Given the description of an element on the screen output the (x, y) to click on. 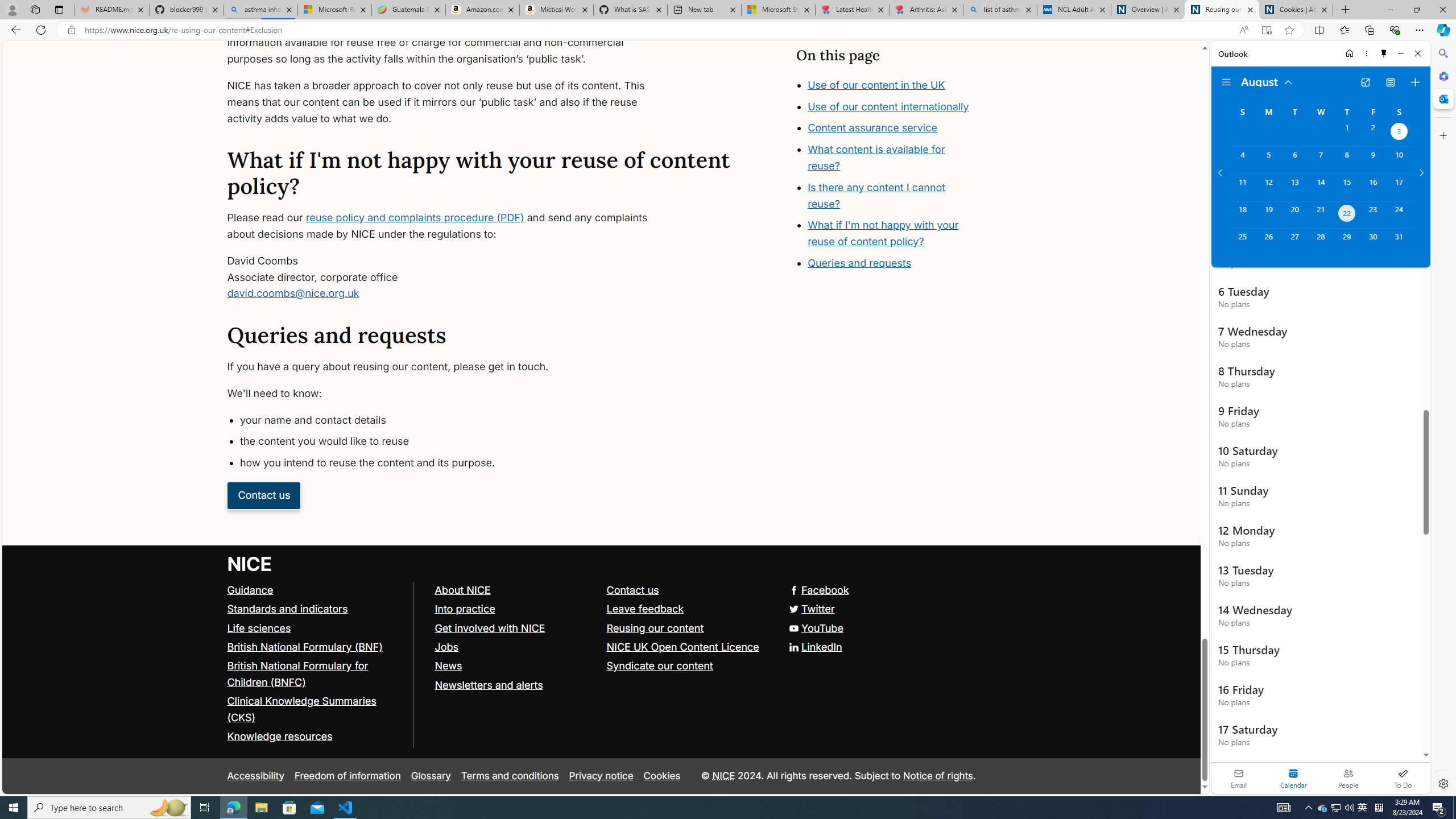
Into practice (514, 609)
Saturday, August 31, 2024.  (1399, 241)
Jobs (514, 647)
Cookies (662, 775)
Close Customize pane (1442, 135)
Selected calendar module. Date today is 22 (1293, 777)
Syndicate our content (686, 665)
Freedom of information (347, 775)
Class: in-page-nav__list (884, 175)
